Given the description of an element on the screen output the (x, y) to click on. 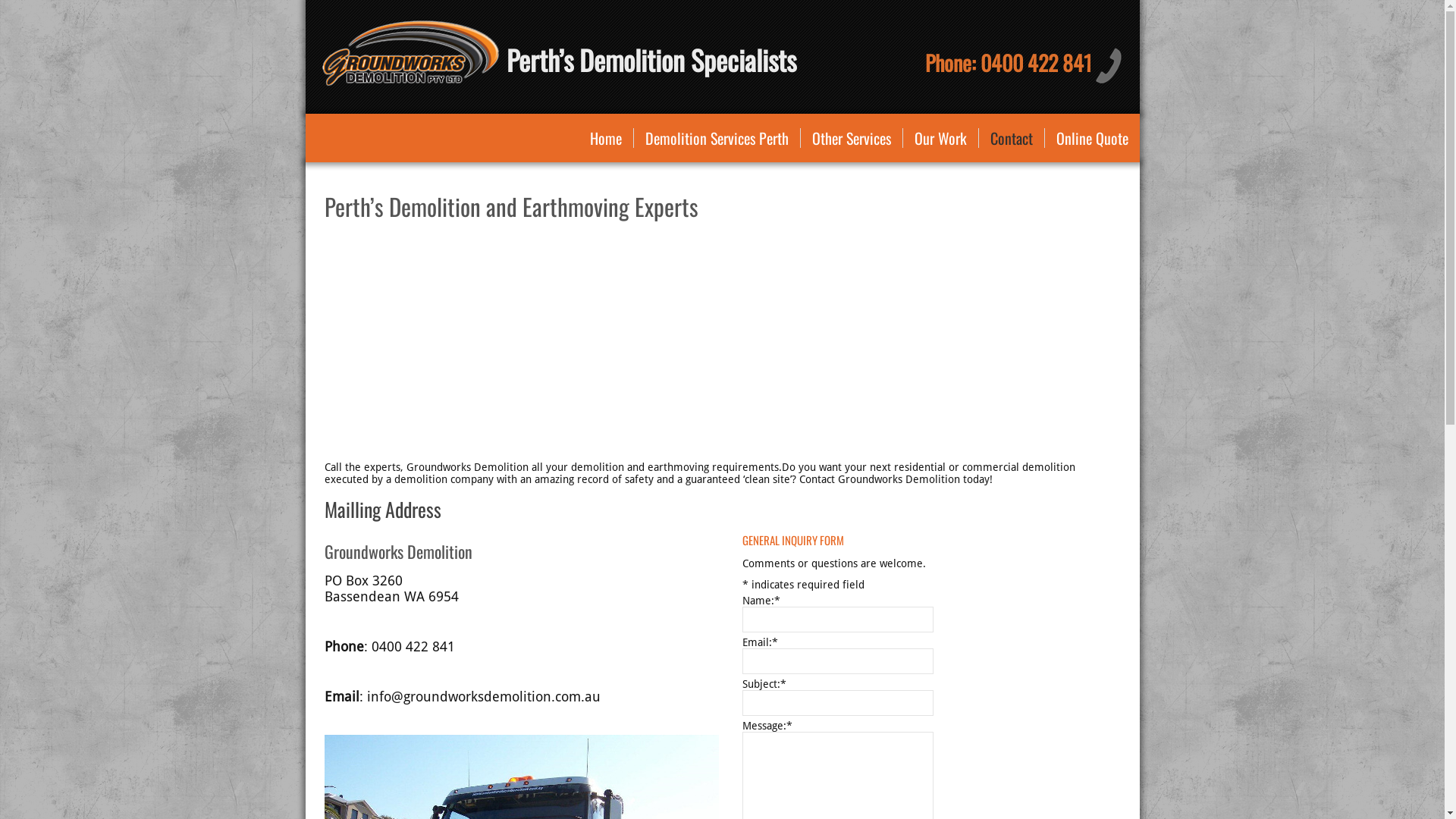
Our Work Element type: text (939, 137)
Demolition Services Perth Element type: text (716, 137)
Other Services Element type: text (851, 137)
Home Element type: text (604, 137)
Contact Element type: text (1010, 137)
Online Quote Element type: text (1091, 137)
